Given the description of an element on the screen output the (x, y) to click on. 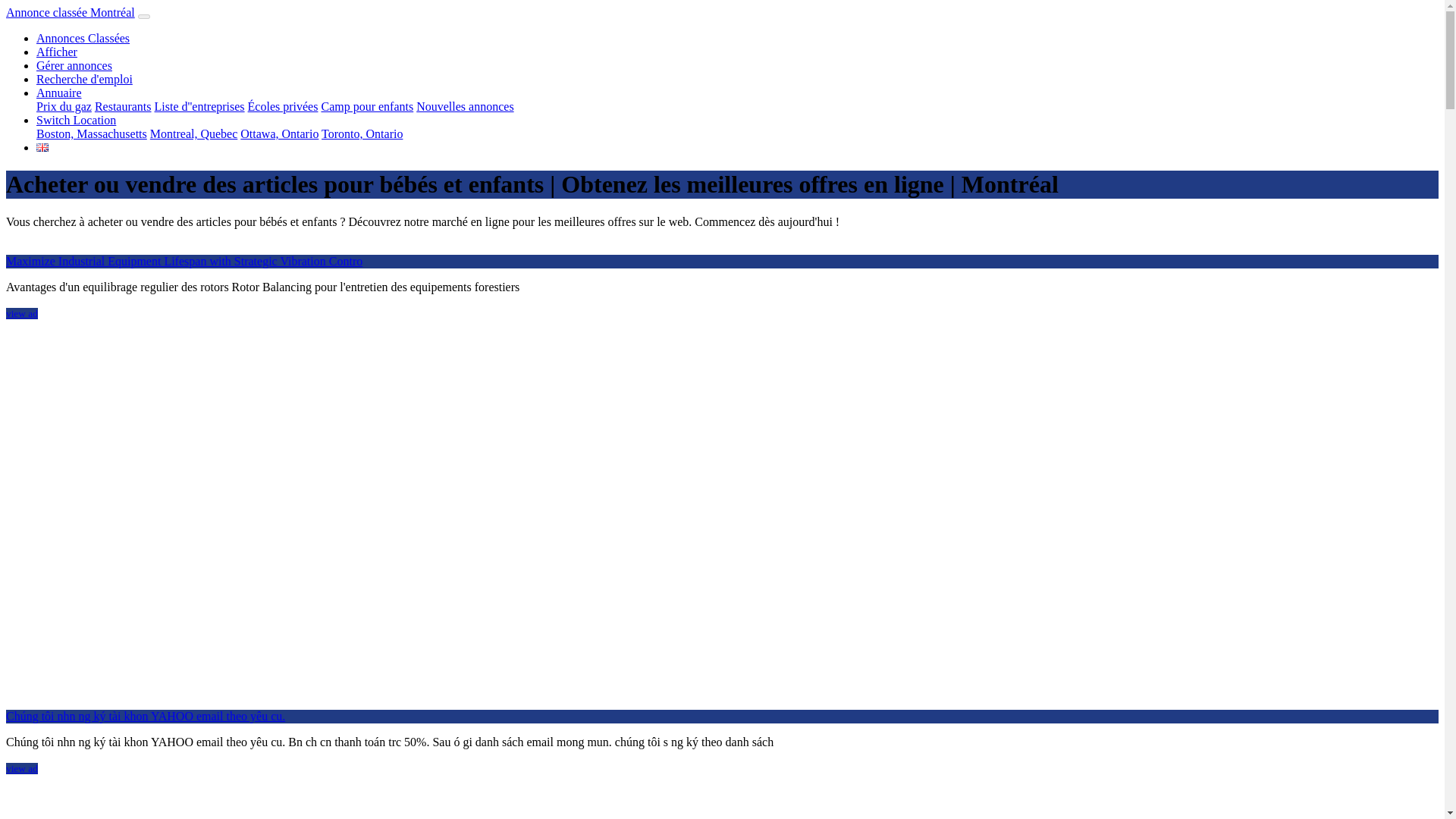
Boston, Massachusetts (91, 133)
Afficher (56, 51)
view ad (21, 313)
Ottawa, Ontario (279, 133)
Prix du gaz (63, 106)
Nouvelles annonces (464, 106)
Recherche d'emploi (84, 78)
view ad (21, 767)
Camp pour enfants (366, 106)
